Given the description of an element on the screen output the (x, y) to click on. 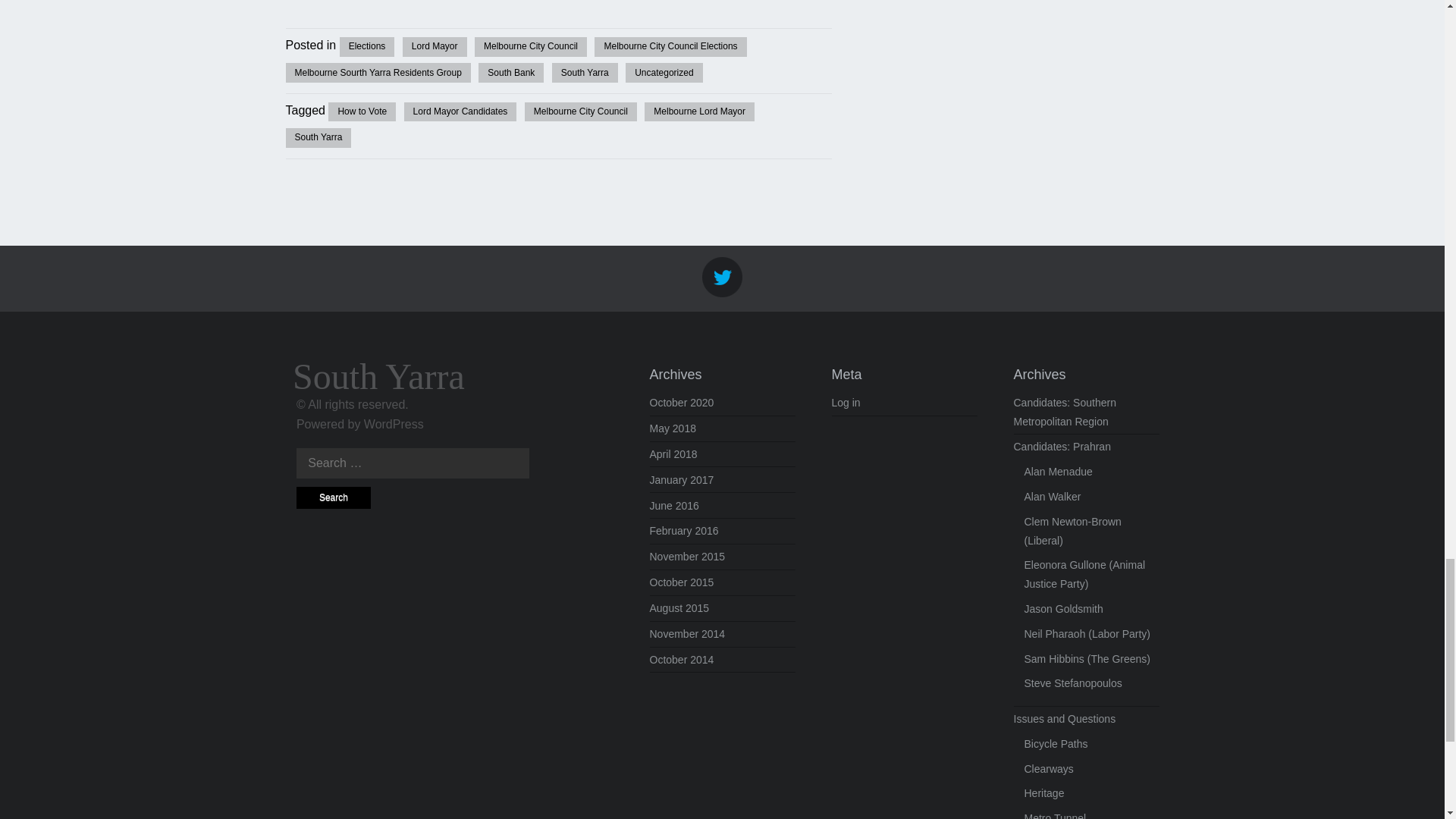
A Semantic Personal Publishing Platform (393, 423)
Search (334, 497)
Search for: (413, 462)
Search (334, 497)
